Given the description of an element on the screen output the (x, y) to click on. 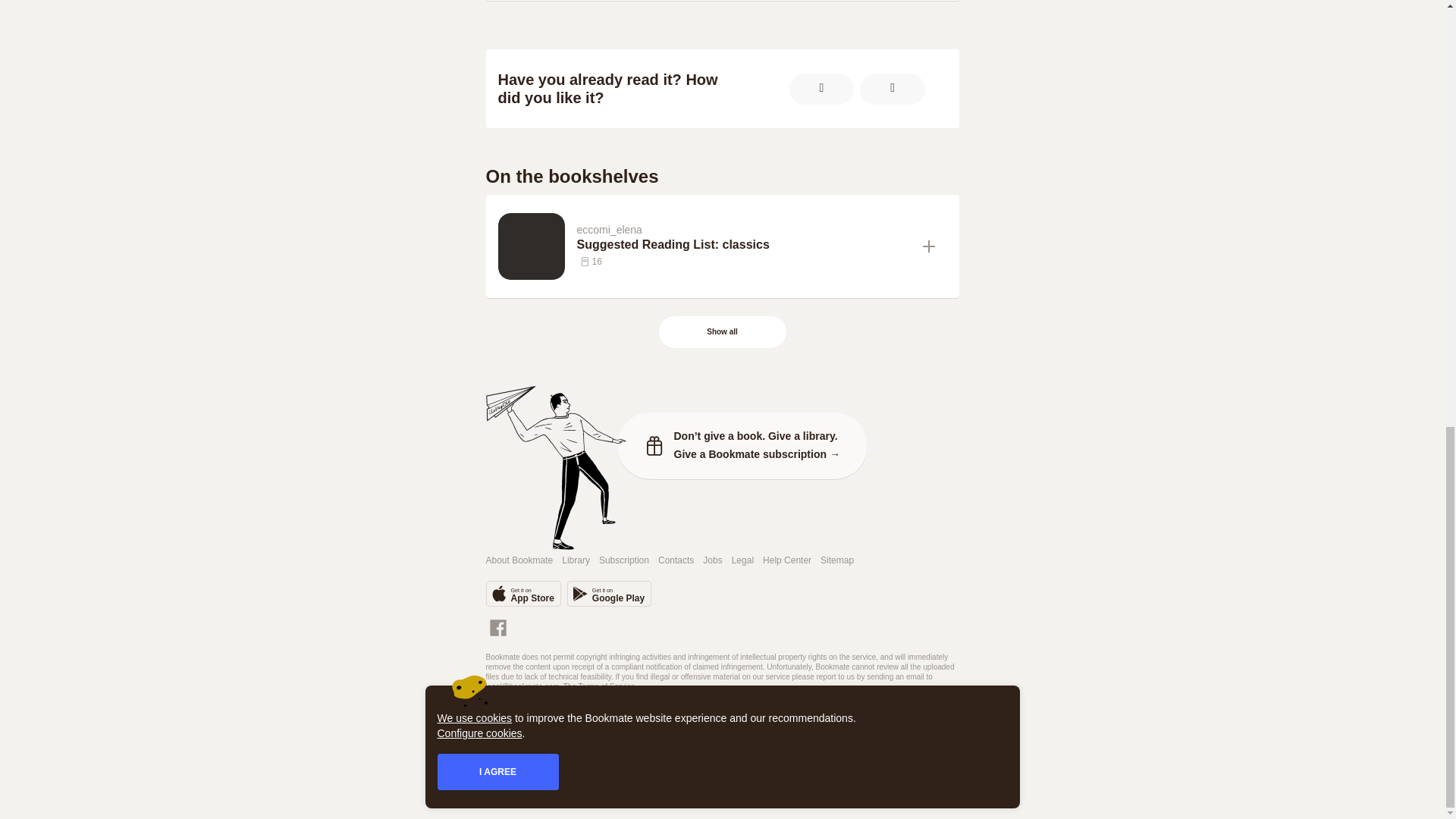
Contacts (676, 560)
Show all (722, 331)
Show all (722, 332)
Jobs (712, 560)
About Bookmate (518, 560)
Subscription (623, 560)
Library (575, 560)
Suggested Reading List: classics (743, 244)
